Given the description of an element on the screen output the (x, y) to click on. 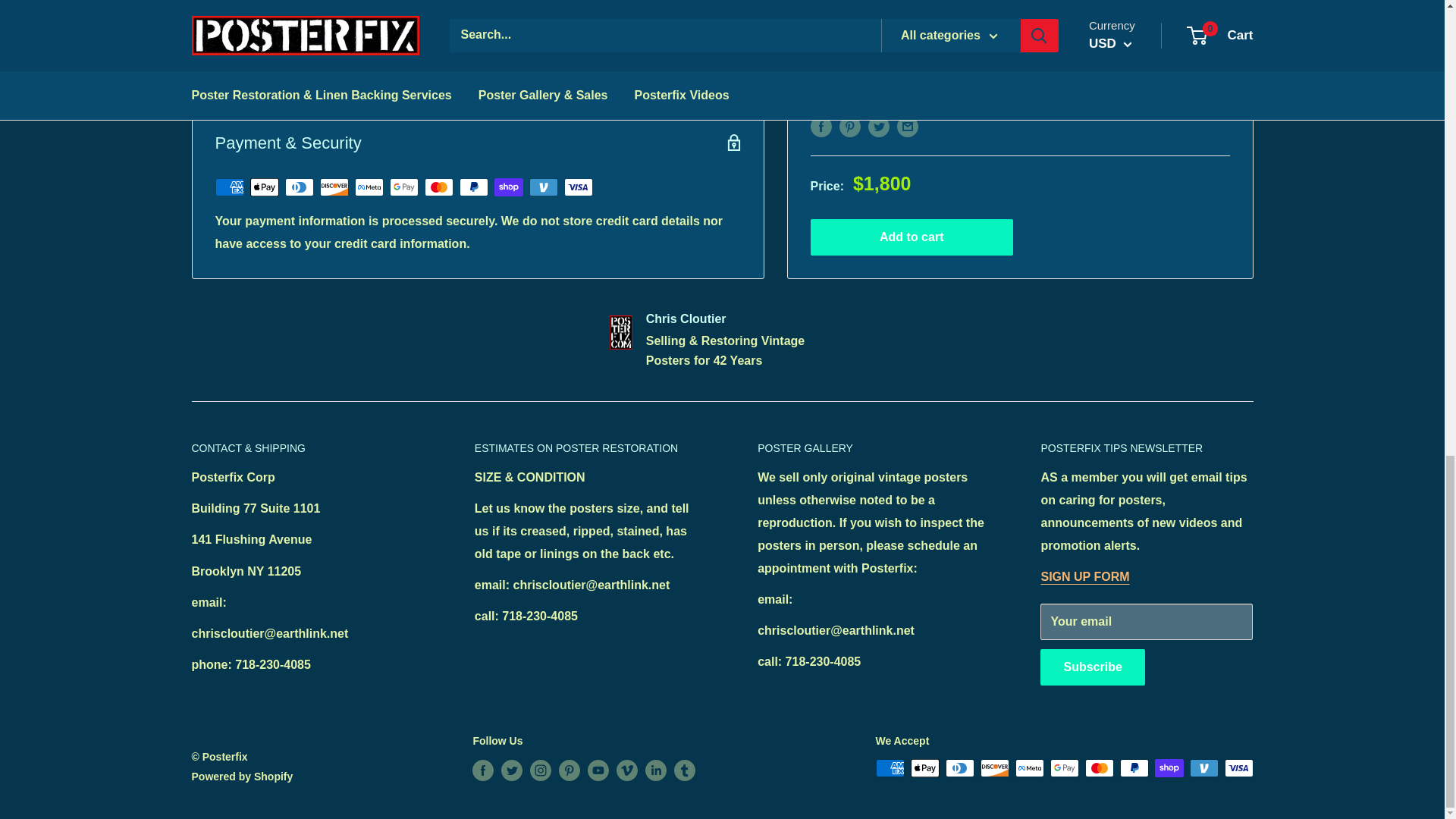
Pont Alexandre III (298, 50)
Ferris wheel (402, 50)
Diesel engine (610, 50)
Escalator (280, 72)
Sound film (456, 61)
